Given the description of an element on the screen output the (x, y) to click on. 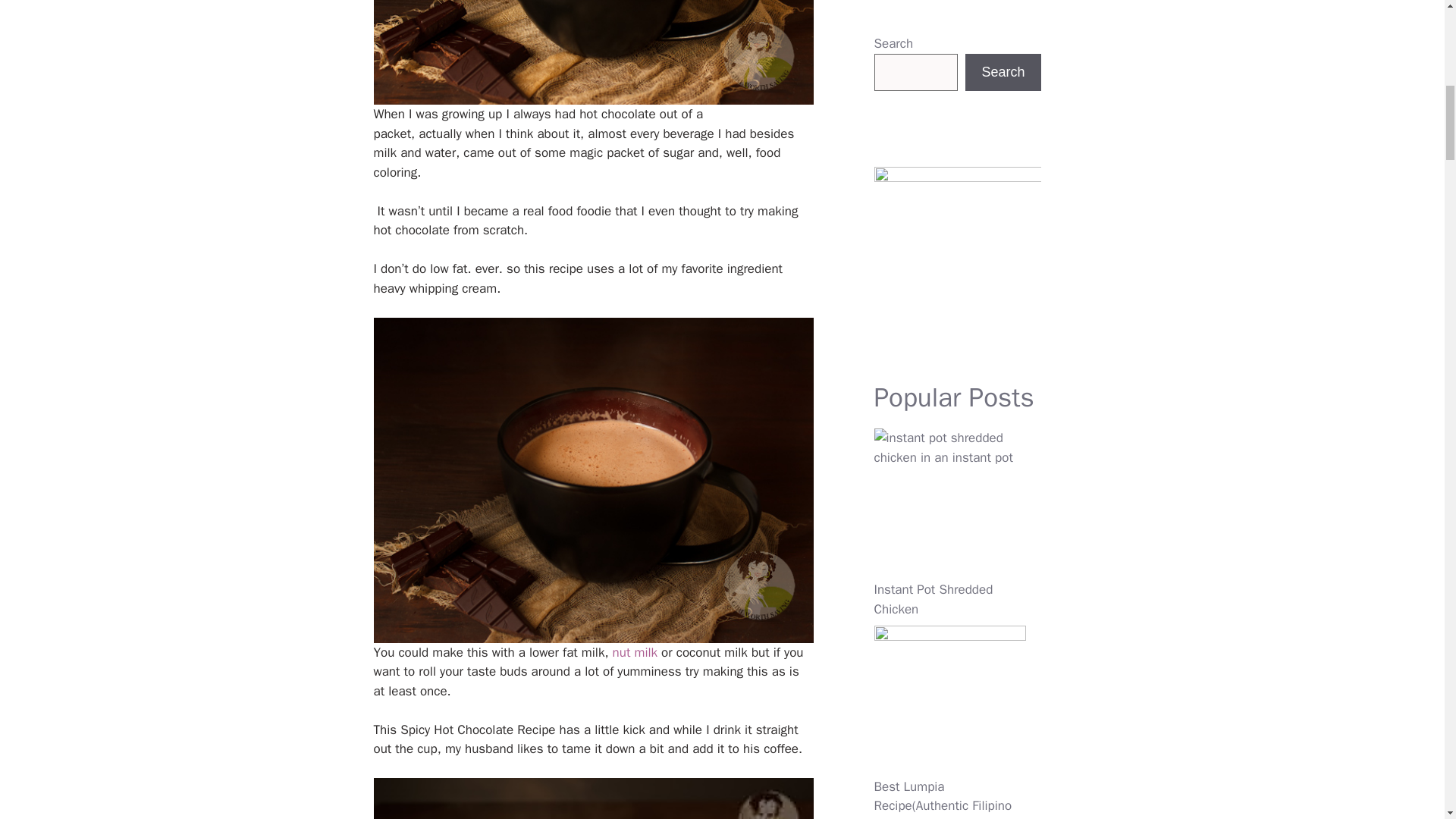
Death by Spicy Hot Chocolate (592, 52)
nut milk (635, 652)
Spicy Hot Chocolate Recipe Kelly Bejelly (592, 798)
